Given the description of an element on the screen output the (x, y) to click on. 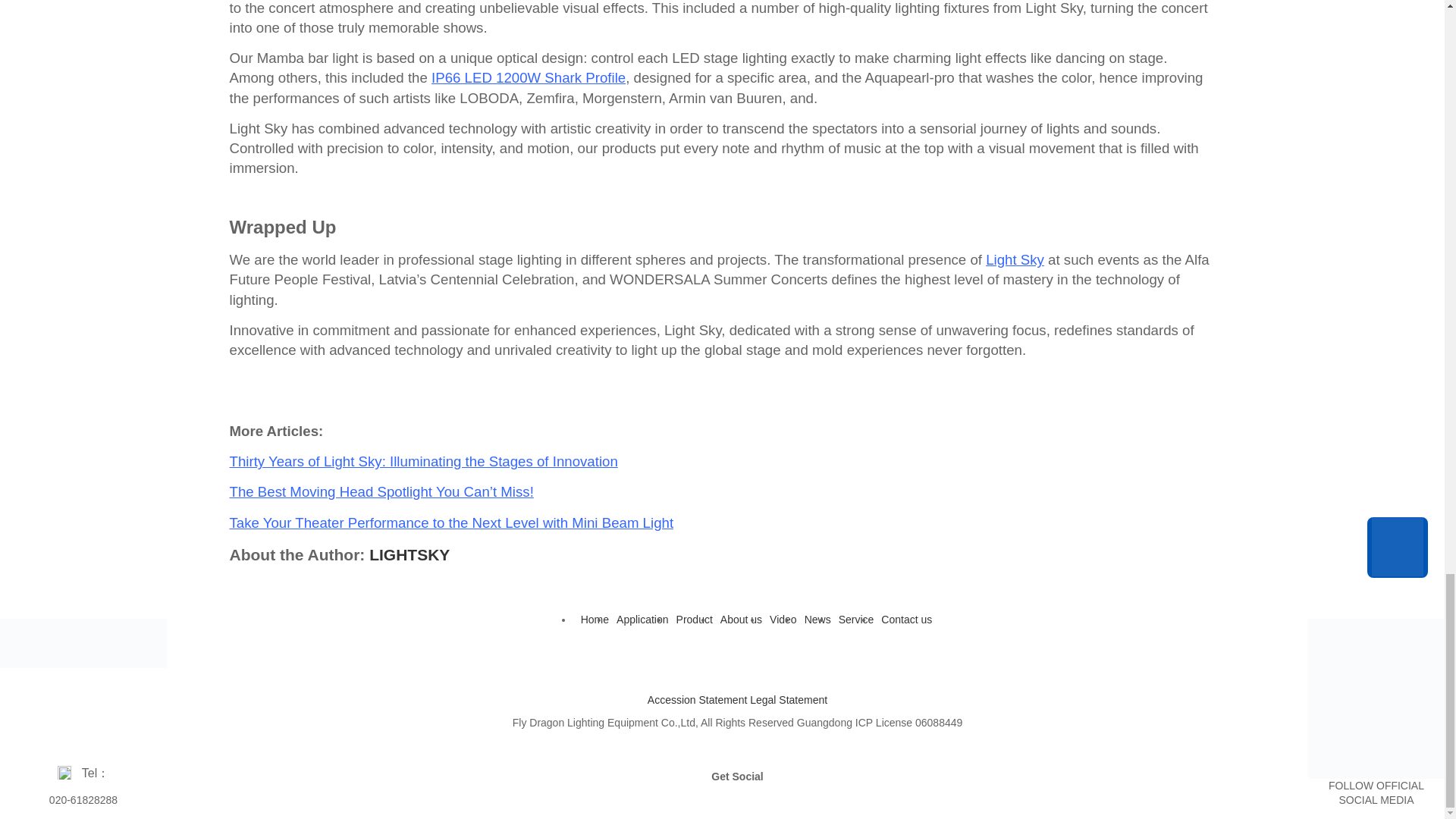
Posts by LIGHTSKY (409, 554)
